Given the description of an element on the screen output the (x, y) to click on. 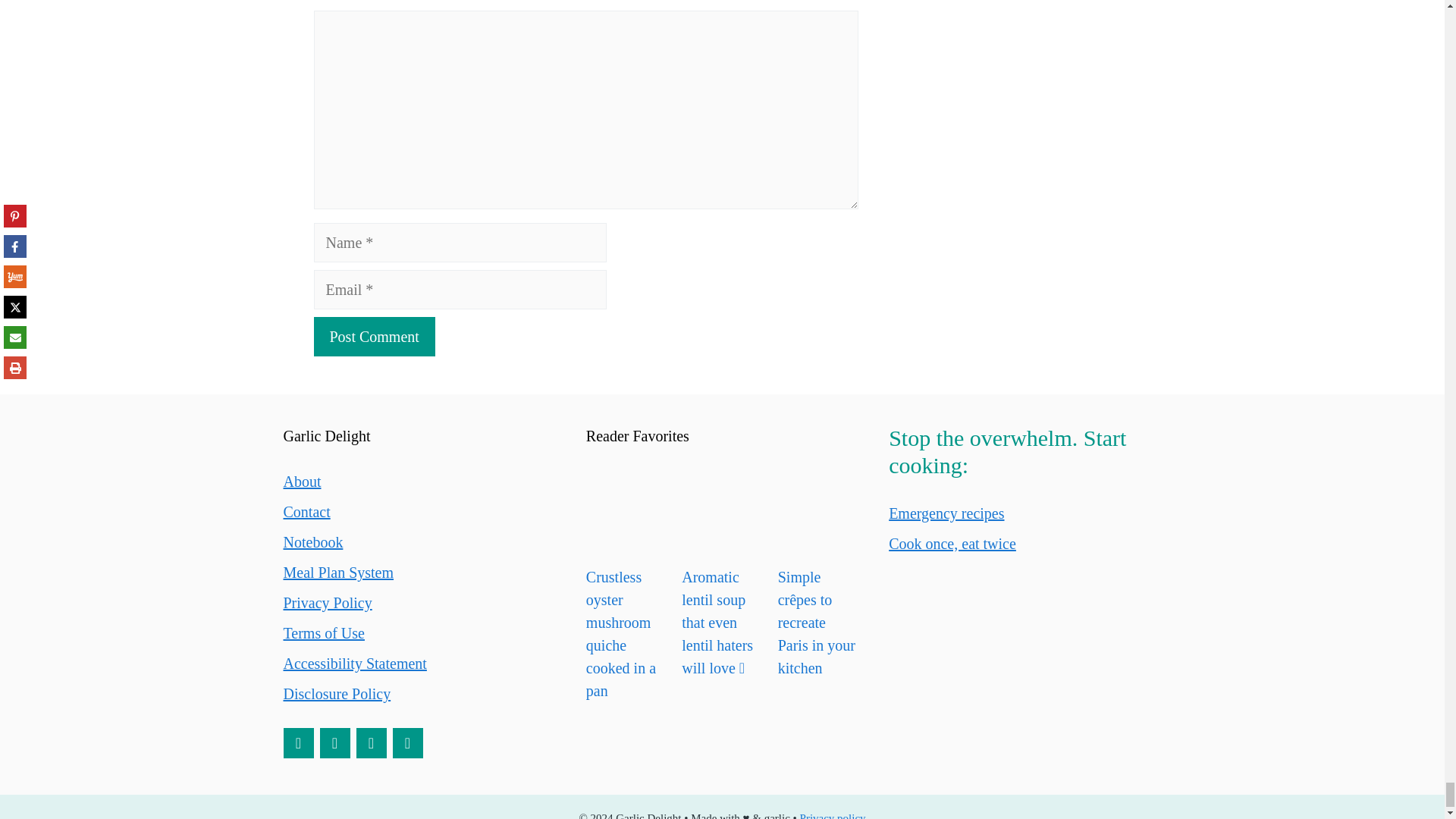
Post Comment (374, 336)
Twitter (408, 743)
Crustless oyster mushroom quiche cooked in a pan (626, 510)
Pinterest (298, 743)
Instagram (371, 743)
Facebook (335, 743)
